Given the description of an element on the screen output the (x, y) to click on. 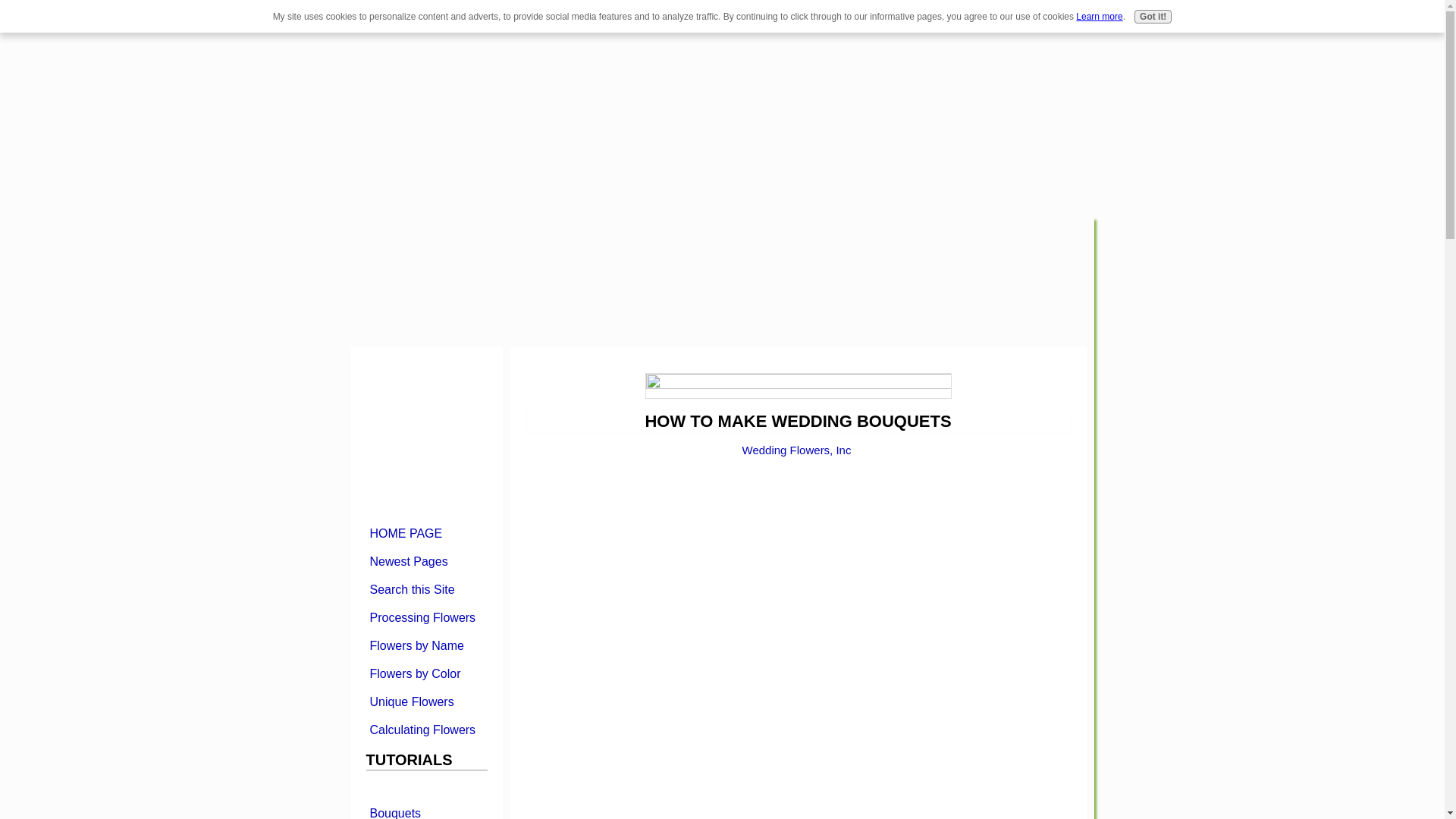
Flowers by Name (425, 645)
HOME PAGE (425, 533)
Search this Site (425, 588)
Newest Pages (425, 561)
Unique Flowers (425, 701)
Flowers by Color (425, 673)
Calculating Flowers (425, 729)
Wedding Flowers, Inc (796, 449)
Bouquets (425, 809)
Processing Flowers (425, 617)
